Given the description of an element on the screen output the (x, y) to click on. 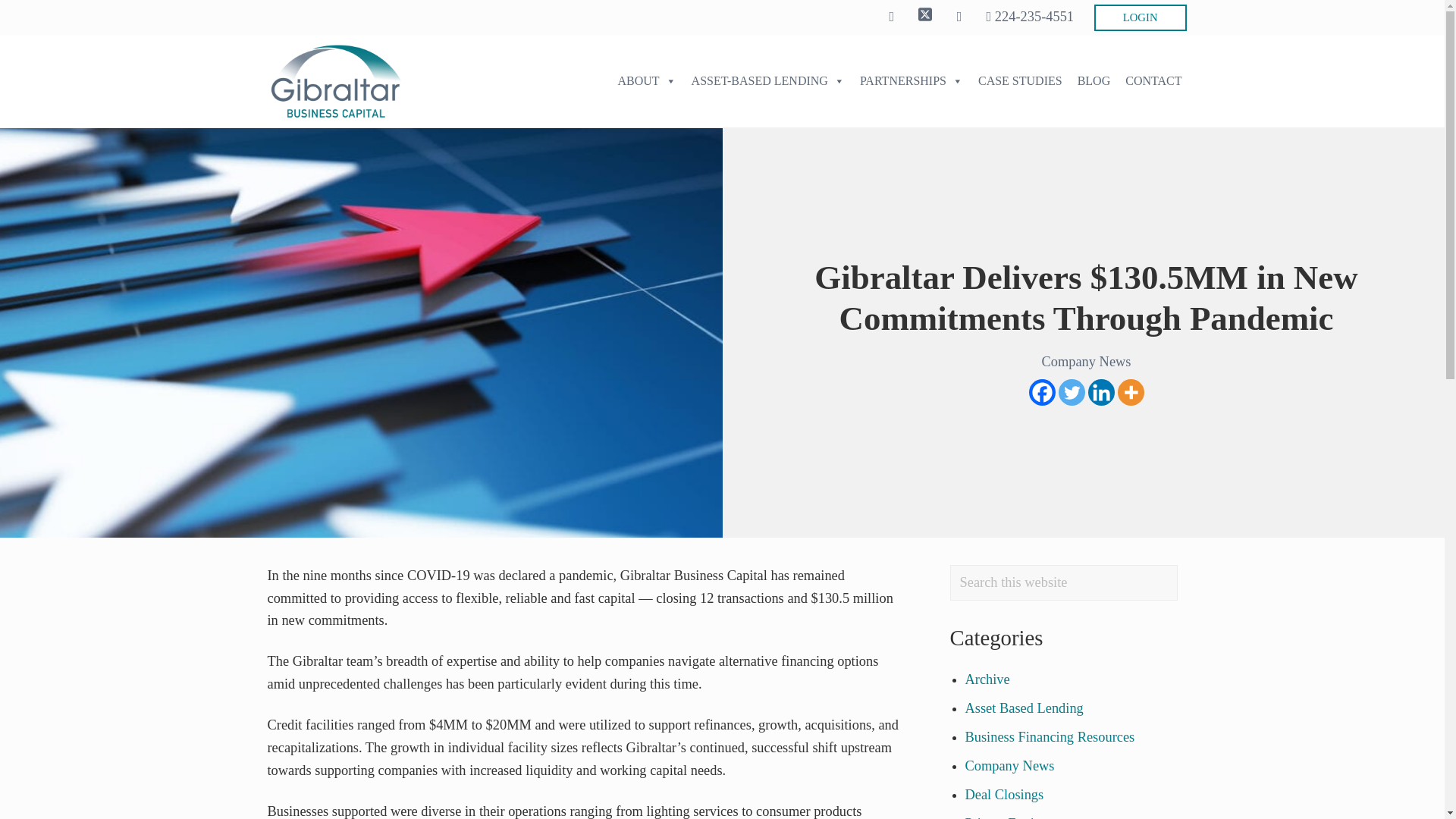
LOGIN (1140, 17)
Twitter (1071, 392)
Facebook (1040, 392)
PARTNERSHIPS (911, 81)
Linkedin (1100, 392)
224-235-4551 (1030, 16)
ASSET-BASED LENDING (767, 81)
